Given the description of an element on the screen output the (x, y) to click on. 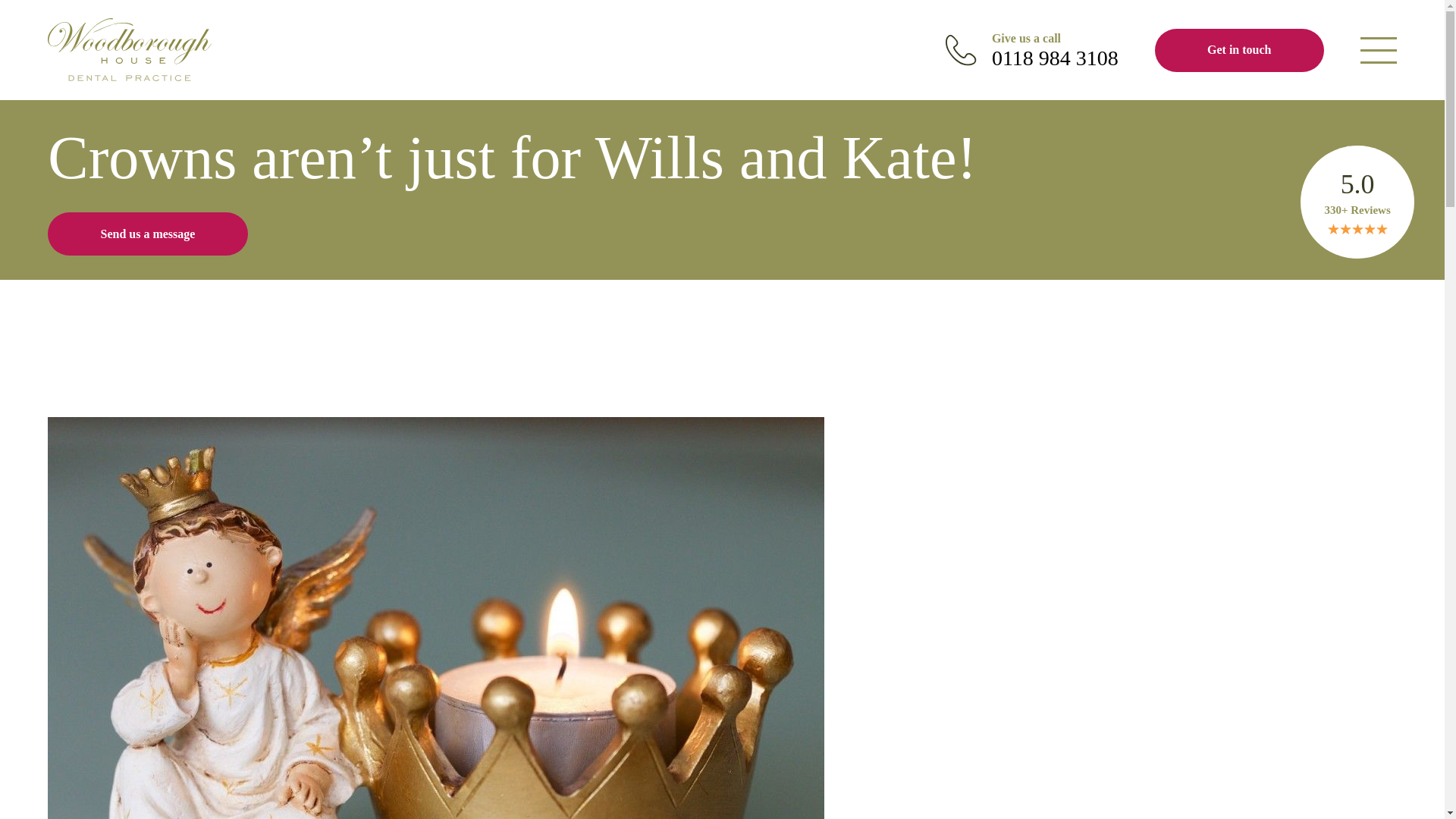
Get in touch (1031, 49)
